Given the description of an element on the screen output the (x, y) to click on. 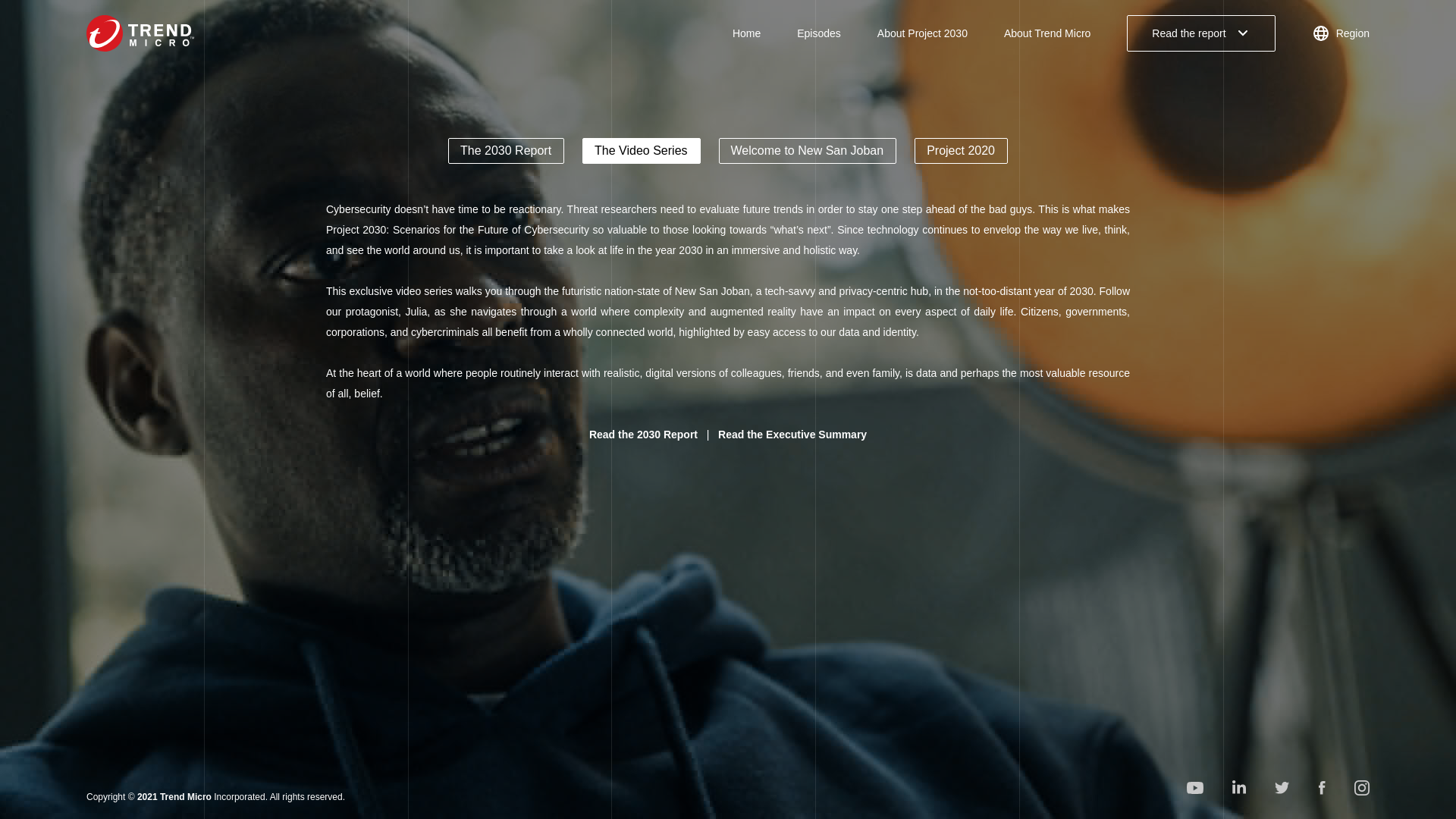
About Trend Micro (1047, 33)
Home (746, 33)
About Project 2030 (922, 33)
Project 2020 (960, 150)
Episodes (818, 33)
Read the 2030 Report (643, 434)
The 2030 Report (506, 150)
Read the Executive Summary (791, 434)
The Video Series (641, 150)
Read the report (1200, 33)
